Given the description of an element on the screen output the (x, y) to click on. 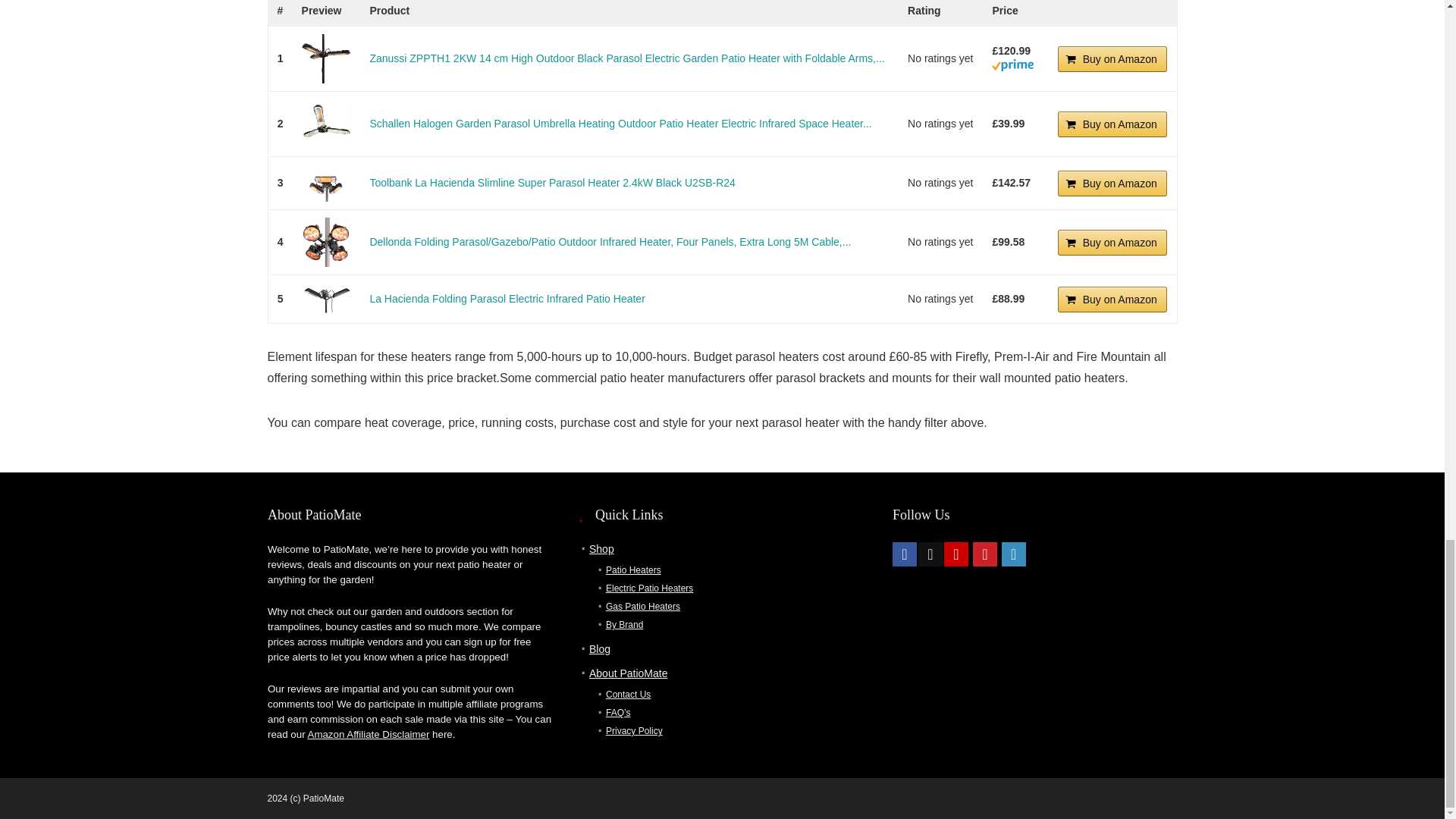
Amazon Prime (1012, 65)
Buy on Amazon (1112, 58)
Buy on Amazon (1112, 124)
